Given the description of an element on the screen output the (x, y) to click on. 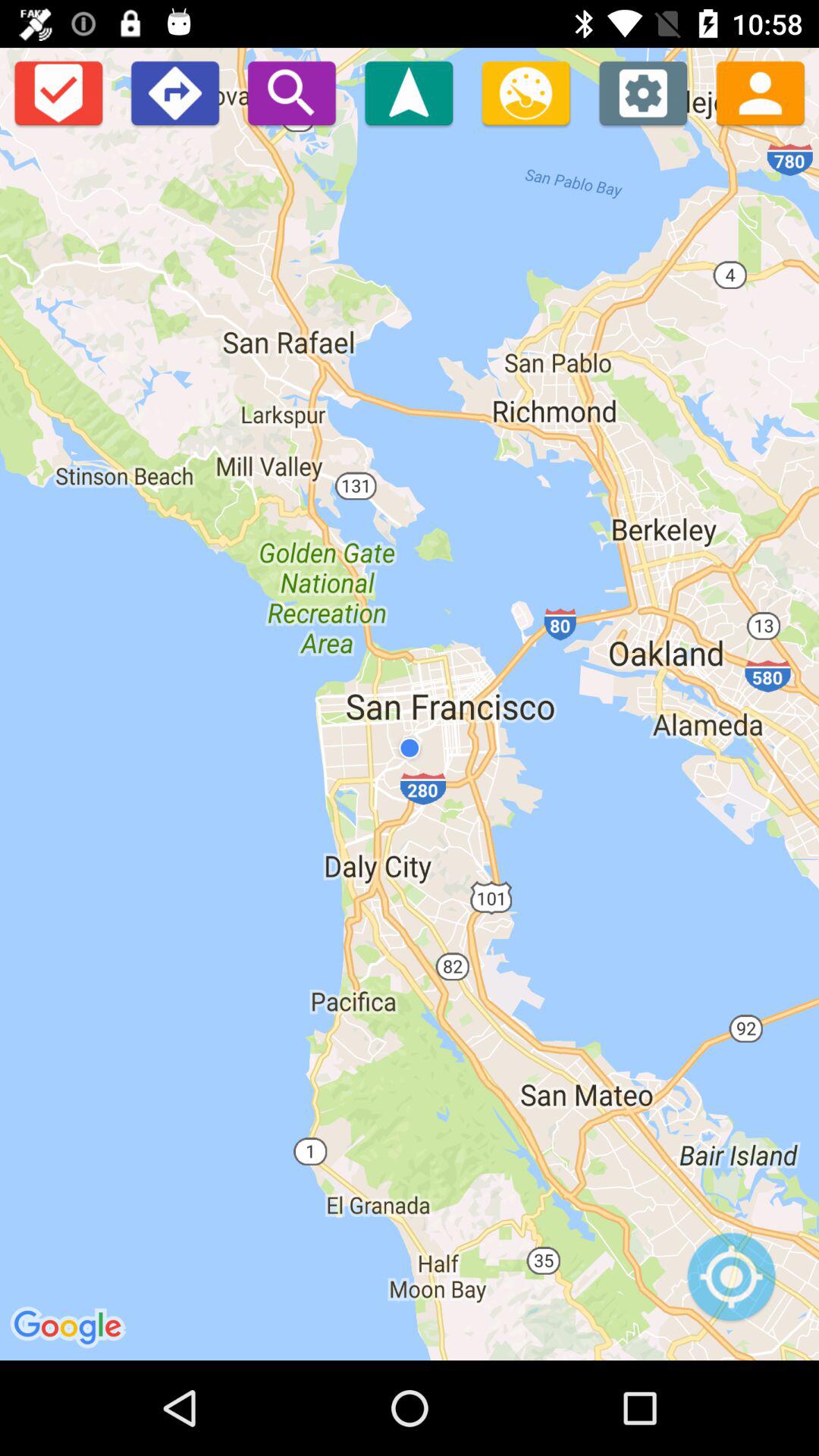
settings (642, 92)
